Given the description of an element on the screen output the (x, y) to click on. 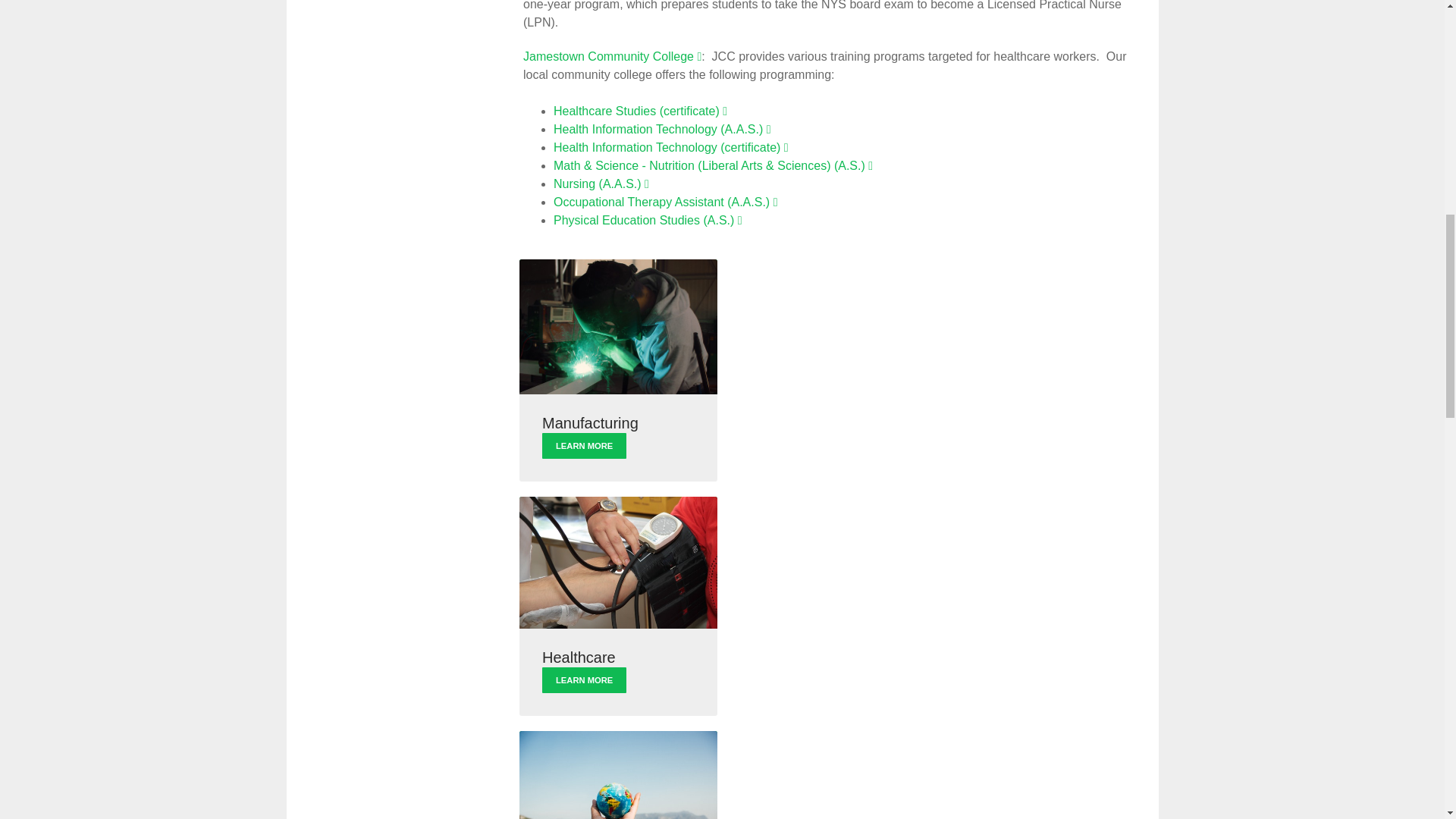
Learn More (583, 679)
Learn More (583, 445)
